Given the description of an element on the screen output the (x, y) to click on. 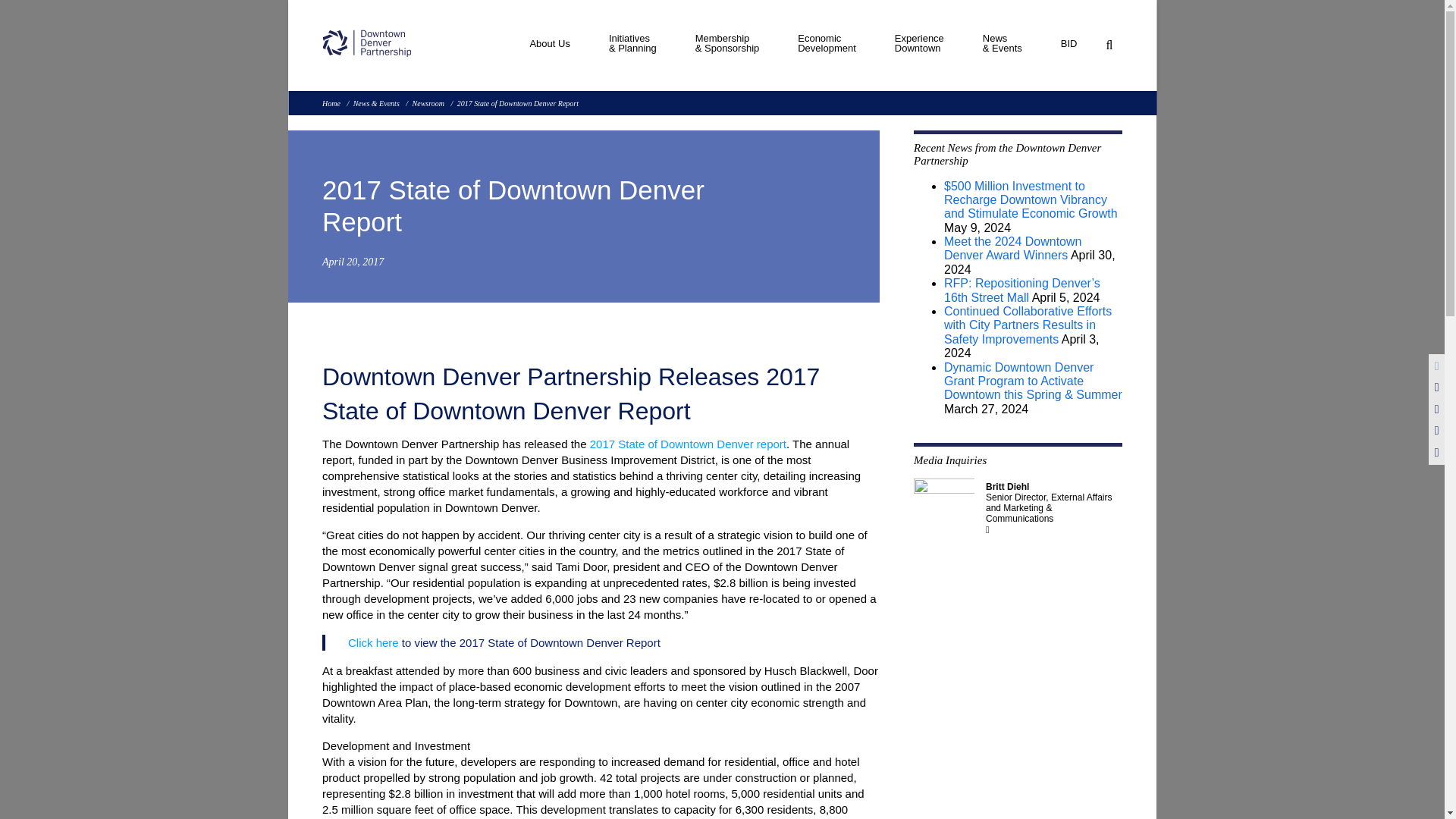
About Us (826, 46)
